Given the description of an element on the screen output the (x, y) to click on. 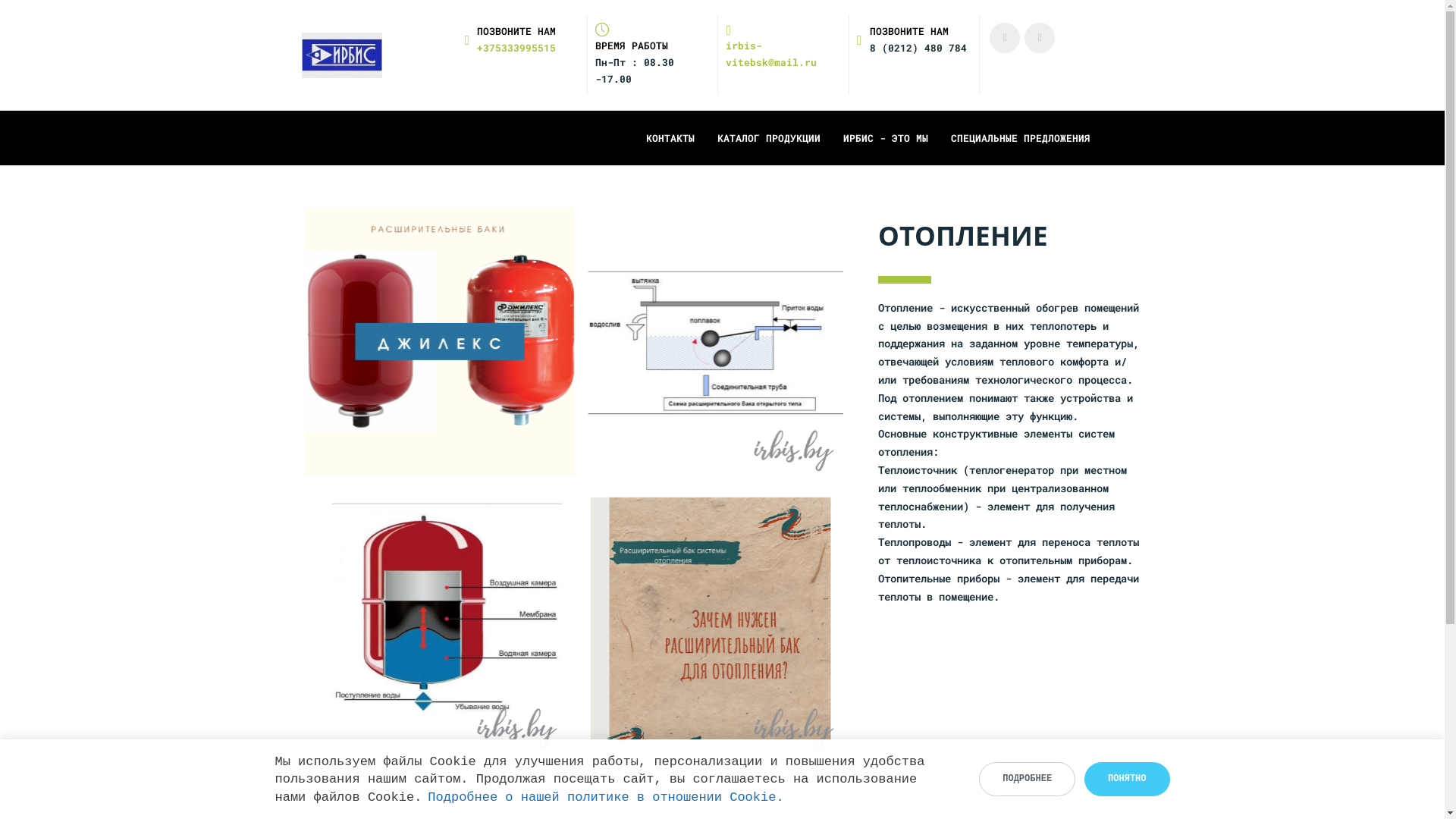
irbis-vitebsk@mail.ru Element type: text (783, 46)
